Given the description of an element on the screen output the (x, y) to click on. 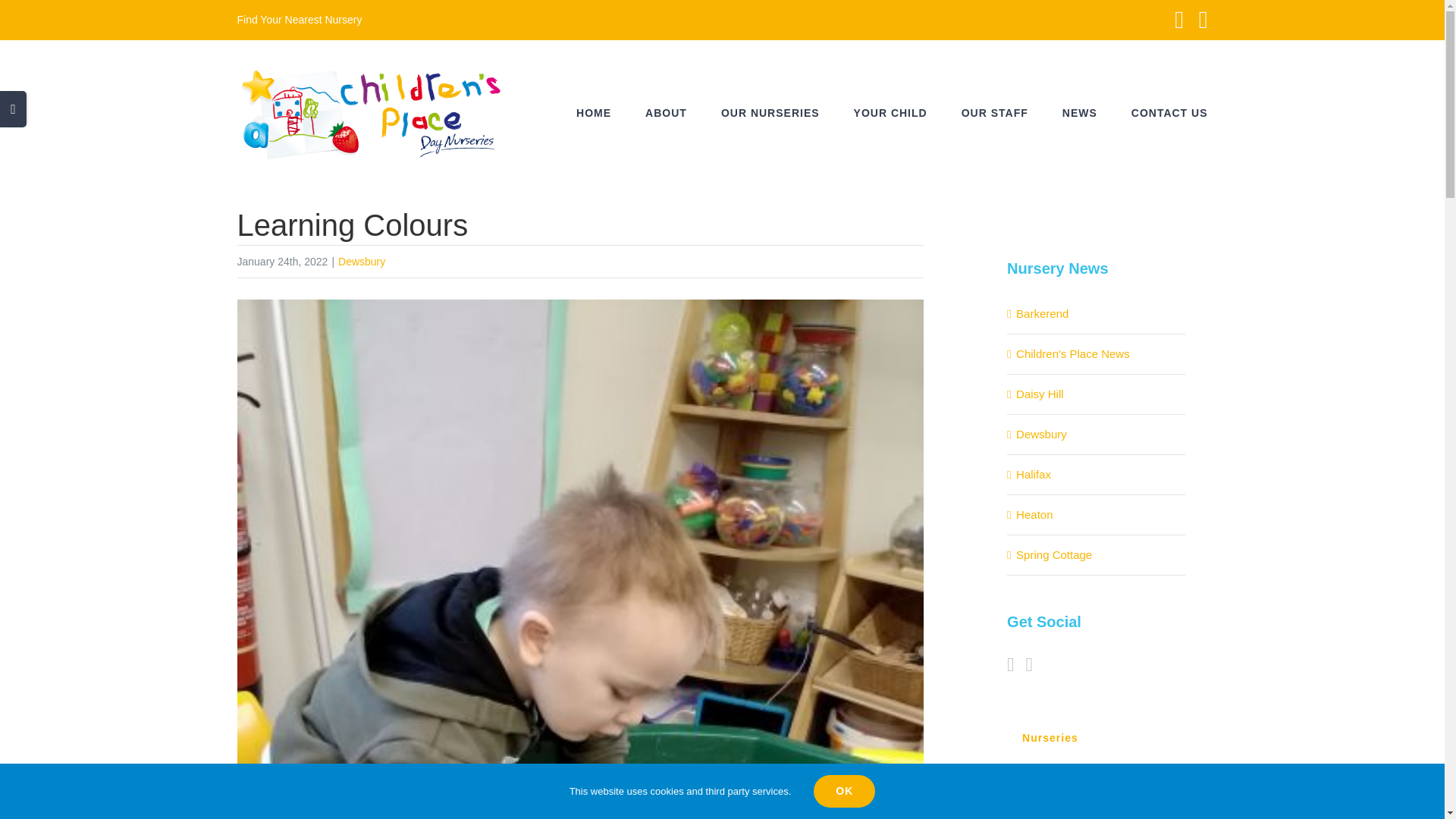
Back to Parent Page (1095, 737)
Find Your Nearest Nursery (298, 19)
